Given the description of an element on the screen output the (x, y) to click on. 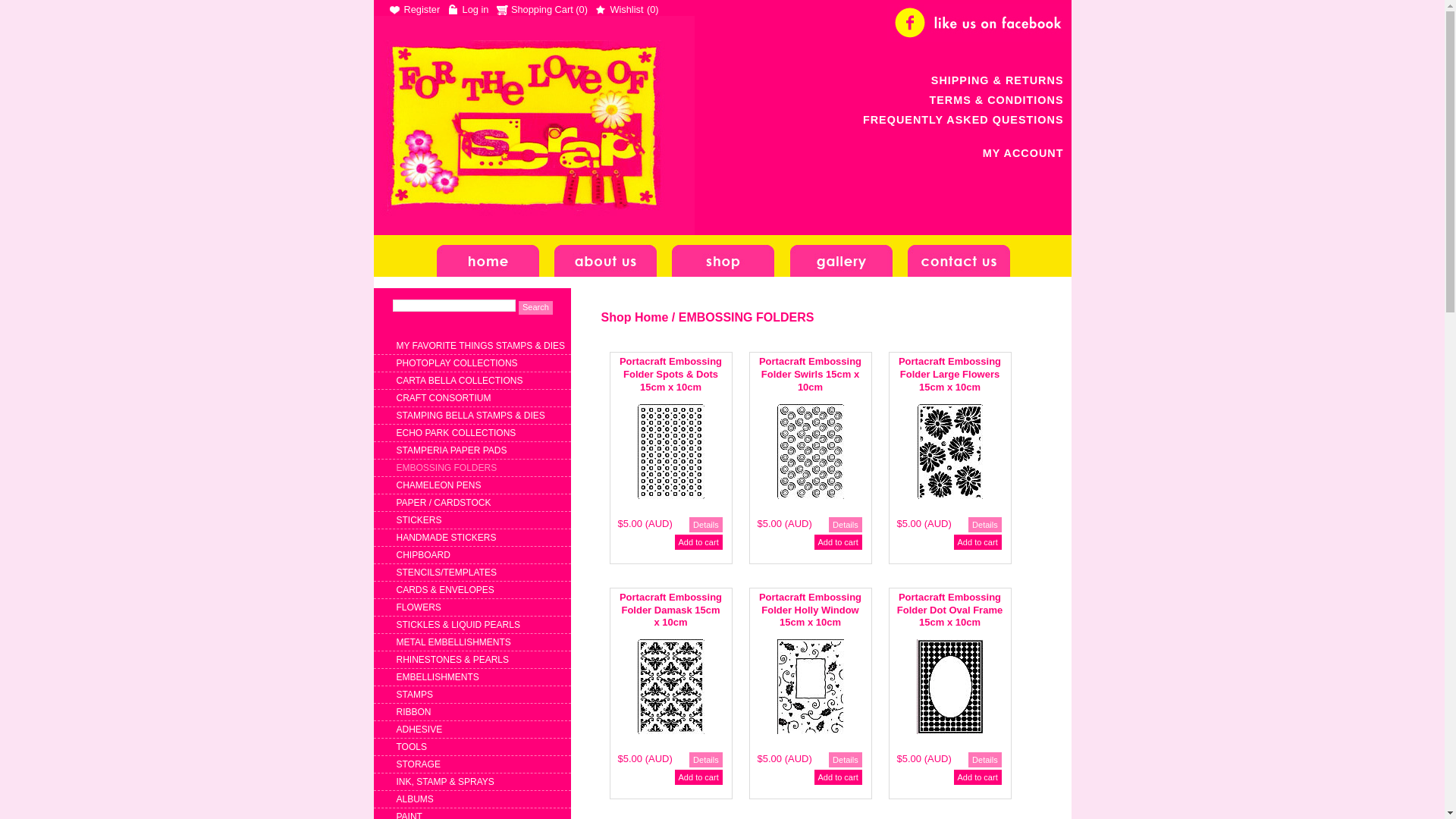
like us on facebook Element type: hover (978, 22)
STICKLES & LIQUID PEARLS Element type: text (457, 624)
STAMPERIA PAPER PADS Element type: text (450, 450)
about us Element type: hover (605, 255)
Details Element type: text (984, 524)
CHIPBOARD Element type: text (422, 554)
  Element type: text (533, 125)
Portacraft Embossing Folder Damask 15cm x 10cm Element type: text (674, 612)
Details Element type: text (984, 759)
Add to cart Element type: text (838, 776)
Register Element type: text (413, 9)
FREQUENTLY ASKED QUESTIONS Element type: text (963, 119)
Details Element type: text (845, 759)
STENCILS/TEMPLATES Element type: text (445, 572)
products Element type: hover (722, 255)
home Element type: hover (487, 255)
FLOWERS Element type: text (417, 607)
Add to cart Element type: text (698, 541)
Shop Home Element type: text (634, 316)
ADHESIVE Element type: text (418, 729)
Portacraft Embossing Folder Dot Oval Frame 15cm x 10cm Element type: text (953, 612)
Portacraft Embossing Folder Swirls 15cm x 10cm Element type: text (813, 376)
CARDS & ENVELOPES Element type: text (444, 589)
CHAMELEON PENS Element type: text (437, 485)
CARTA BELLA COLLECTIONS Element type: text (458, 380)
HANDMADE STICKERS Element type: text (445, 537)
Add to cart Element type: text (698, 776)
Details Element type: text (845, 524)
Add to cart Element type: text (977, 541)
CRAFT CONSORTIUM Element type: text (442, 397)
Details Element type: text (705, 524)
Shopping Cart Element type: text (535, 9)
INK, STAMP & SPRAYS Element type: text (444, 781)
Wishlist Element type: text (618, 9)
STORAGE Element type: text (417, 764)
EMBELLISHMENTS Element type: text (436, 676)
(0) Element type: text (652, 9)
PHOTOPLAY COLLECTIONS Element type: text (456, 362)
STICKERS Element type: text (418, 519)
EMBOSSING FOLDERS Element type: text (746, 316)
Portacraft Embossing Folder Holly Window 15cm x 10cm Element type: text (813, 612)
Portacraft Embossing Folder Large Flowers 15cm x 10cm Element type: text (953, 376)
ALBUMS Element type: text (414, 798)
contact us link Element type: hover (958, 255)
TOOLS Element type: text (410, 746)
Log in Element type: text (468, 9)
TERMS & CONDITIONS Element type: text (995, 100)
EMBOSSING FOLDERS Element type: text (445, 467)
SHIPPING & RETURNS Element type: text (997, 80)
ECHO PARK COLLECTIONS Element type: text (455, 432)
RHINESTONES & PEARLS Element type: text (451, 659)
PAPER / CARDSTOCK Element type: text (442, 502)
MY ACCOUNT Element type: text (1023, 153)
(0) Element type: text (581, 9)
Add to cart Element type: text (977, 776)
Portacraft Embossing Folder Spots & Dots 15cm x 10cm Element type: text (674, 376)
STAMPS Element type: text (413, 694)
Add to cart Element type: text (838, 541)
Search Element type: text (535, 307)
gallery Element type: hover (841, 255)
Details Element type: text (705, 759)
MY FAVORITE THINGS STAMPS & DIES Element type: text (479, 345)
STAMPING BELLA STAMPS & DIES Element type: text (469, 415)
METAL EMBELLISHMENTS Element type: text (452, 642)
RIBBON Element type: text (412, 711)
